Given the description of an element on the screen output the (x, y) to click on. 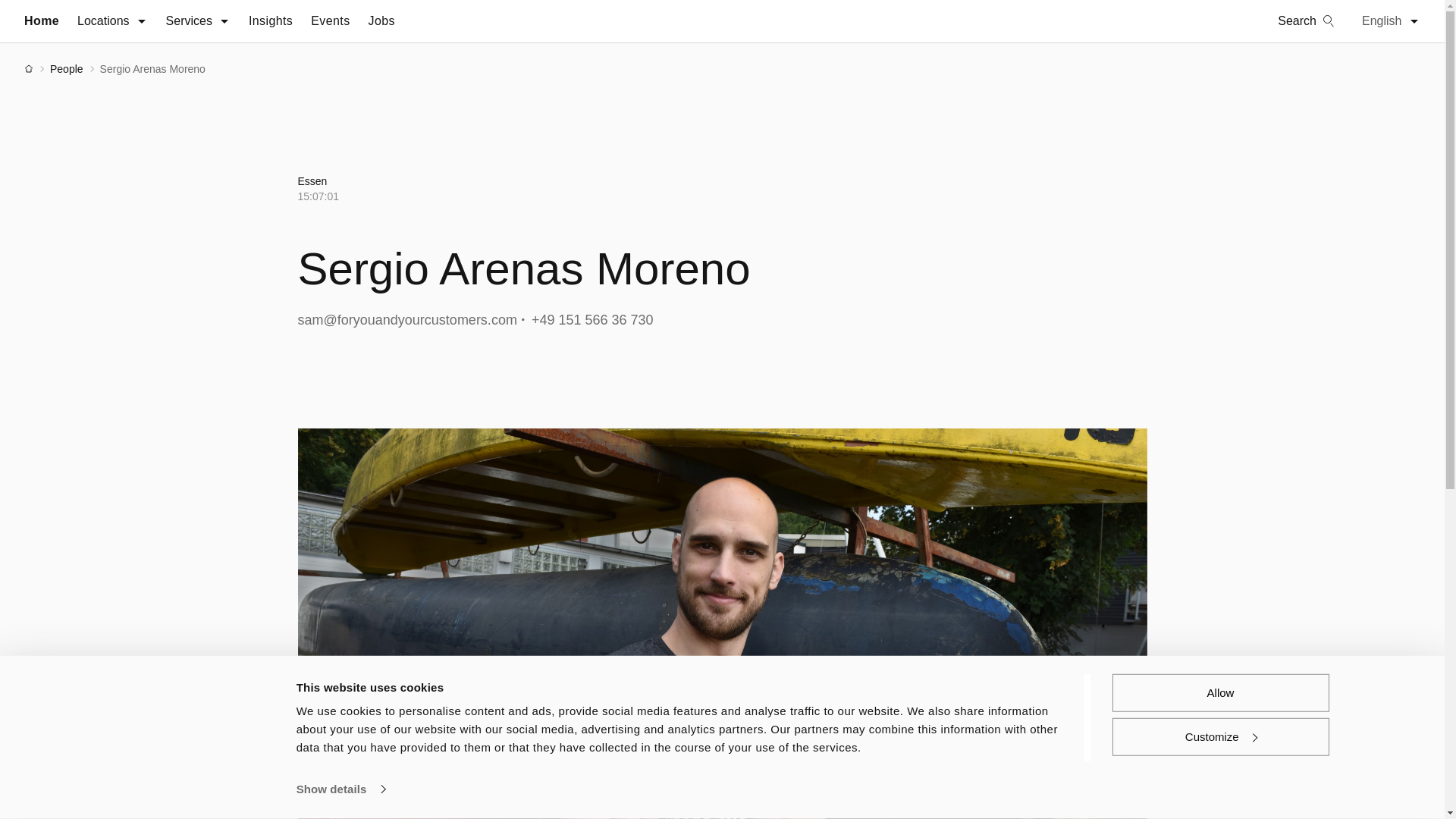
Home (41, 21)
Show details (340, 789)
Allow (1219, 692)
Locations (112, 21)
Customize (1219, 736)
